Given the description of an element on the screen output the (x, y) to click on. 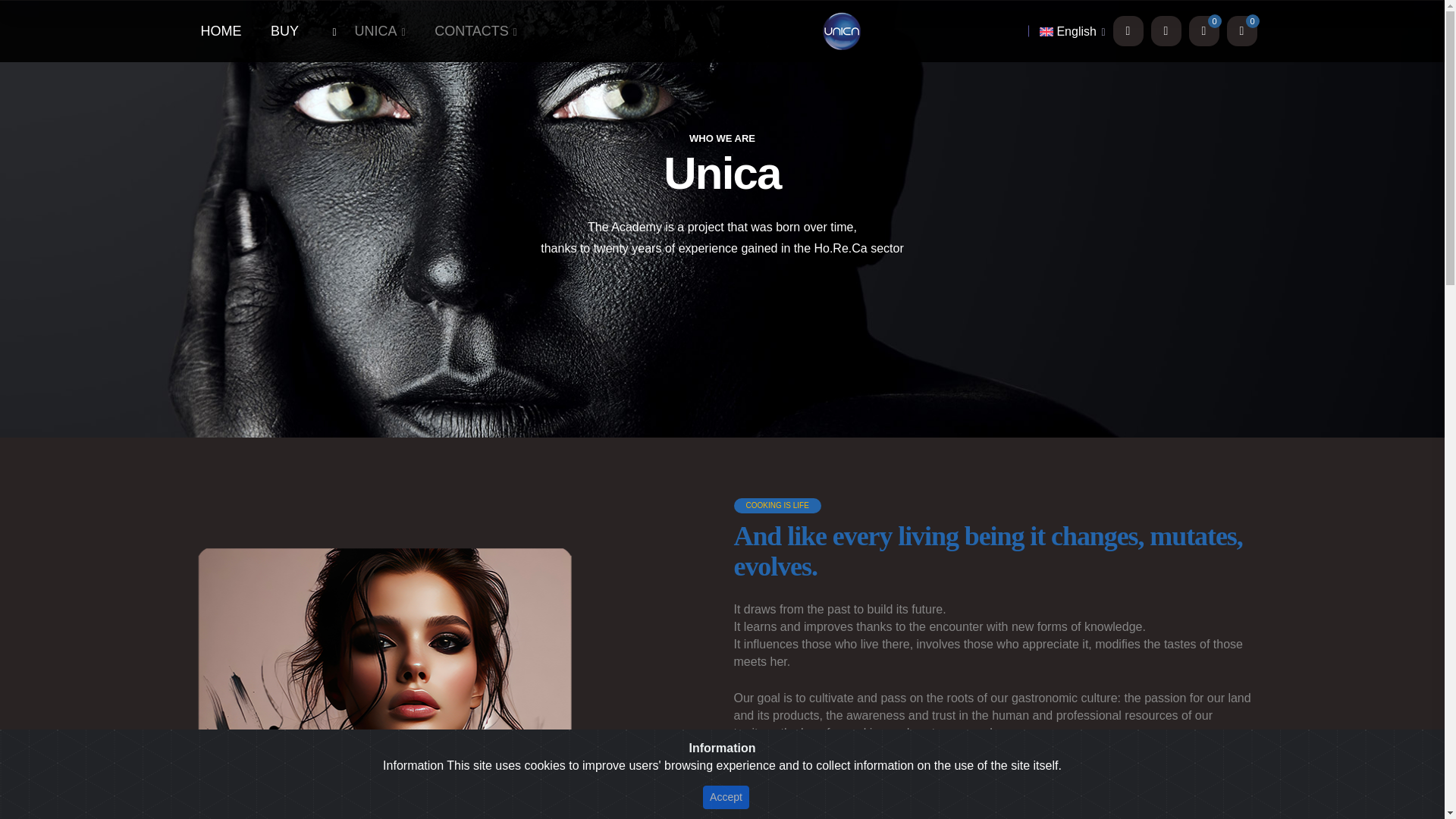
CONTACTS (475, 31)
UNICA (380, 31)
HOME (220, 31)
0 (1242, 30)
